Given the description of an element on the screen output the (x, y) to click on. 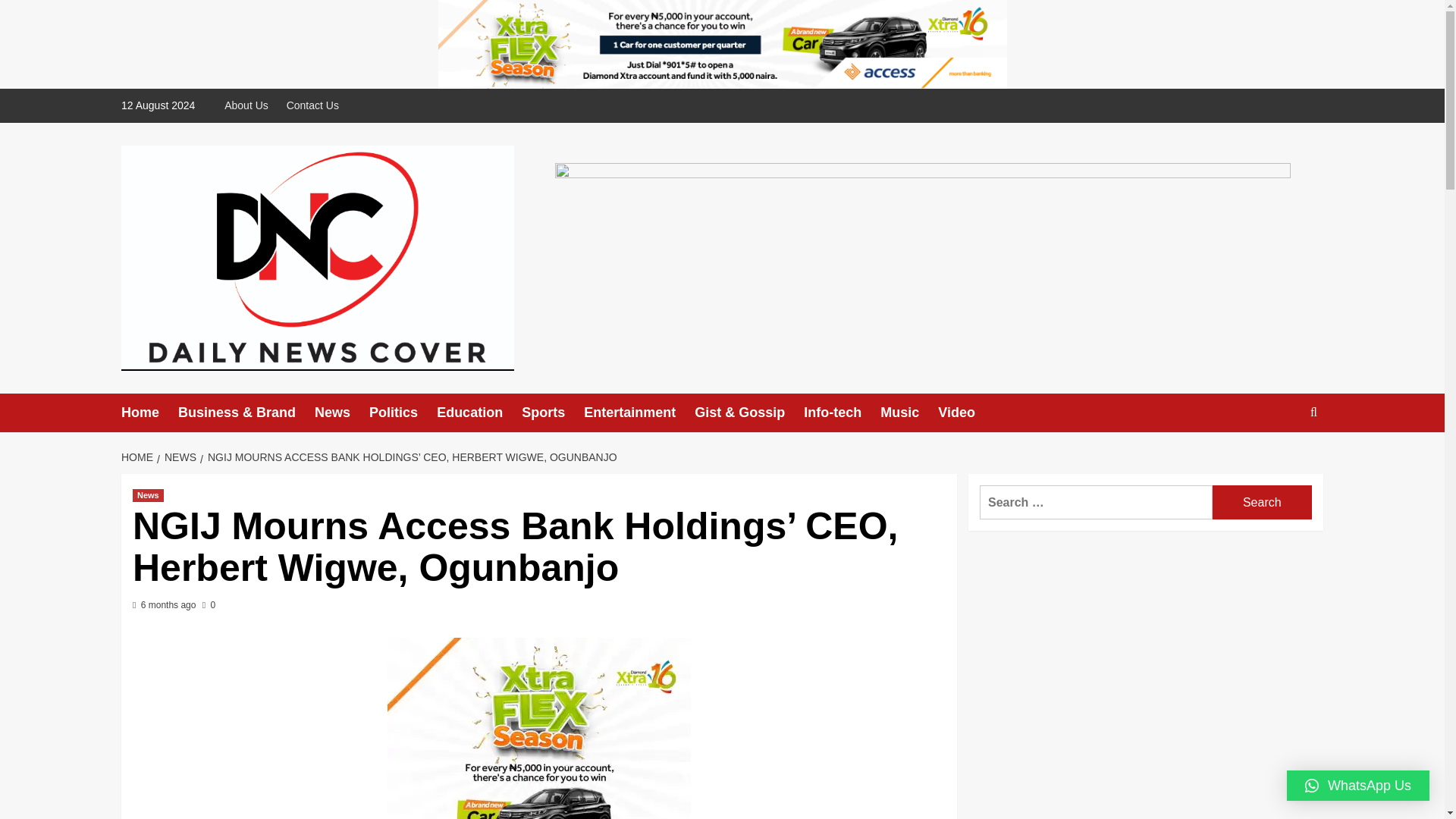
Search (1278, 458)
Info-tech (841, 412)
About Us (250, 105)
Search (1261, 502)
HOME (138, 457)
Education (478, 412)
Home (148, 412)
Search (1261, 502)
Video (965, 412)
Music (908, 412)
